Given the description of an element on the screen output the (x, y) to click on. 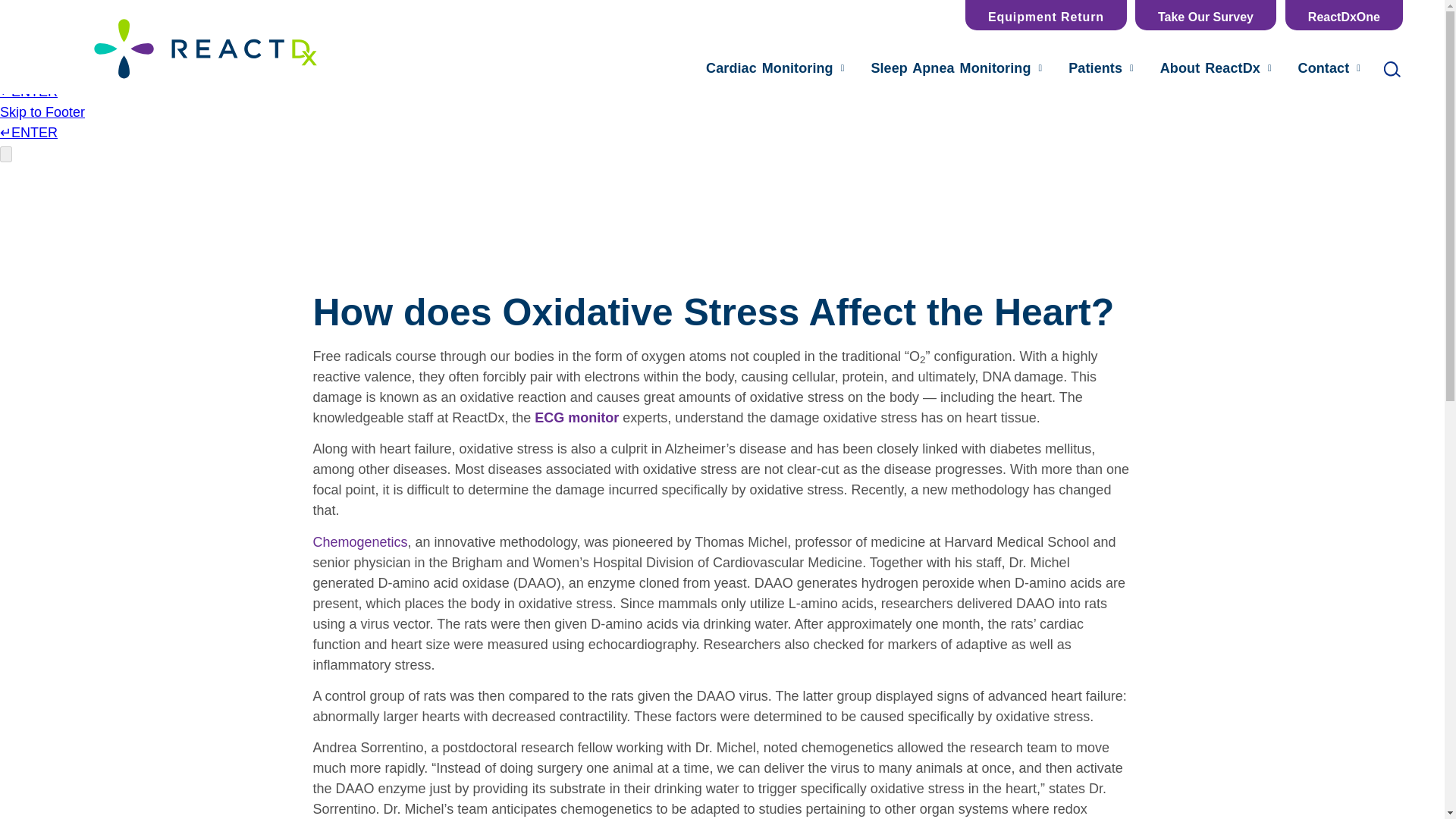
Patients (1205, 15)
Contact (1101, 68)
About ReactDx (1328, 68)
Sleep Apnea Monitoring (1215, 68)
ReactDxOne (1045, 15)
Cardiac Monitoring (956, 68)
